Given the description of an element on the screen output the (x, y) to click on. 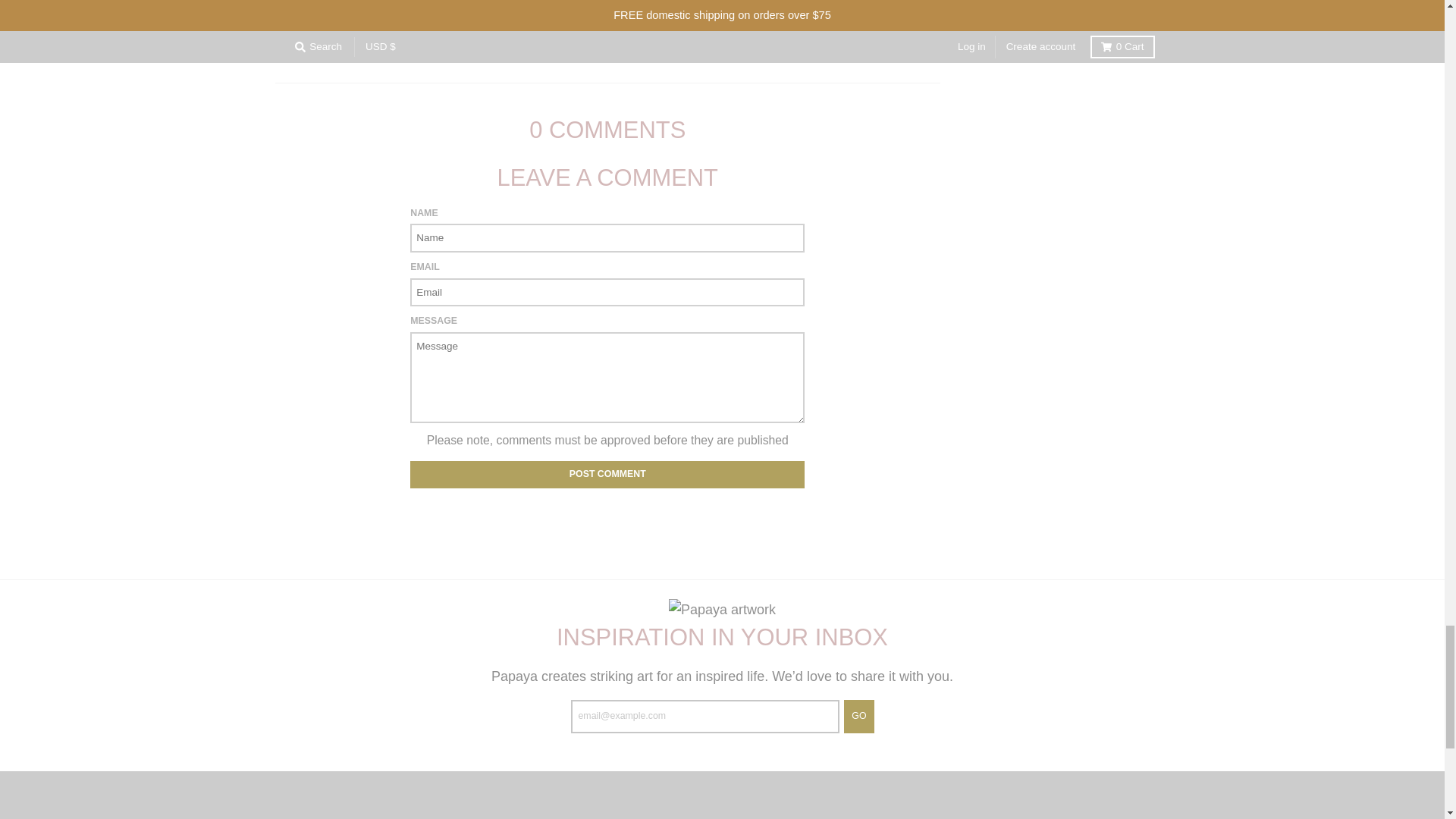
Post comment (607, 474)
